Given the description of an element on the screen output the (x, y) to click on. 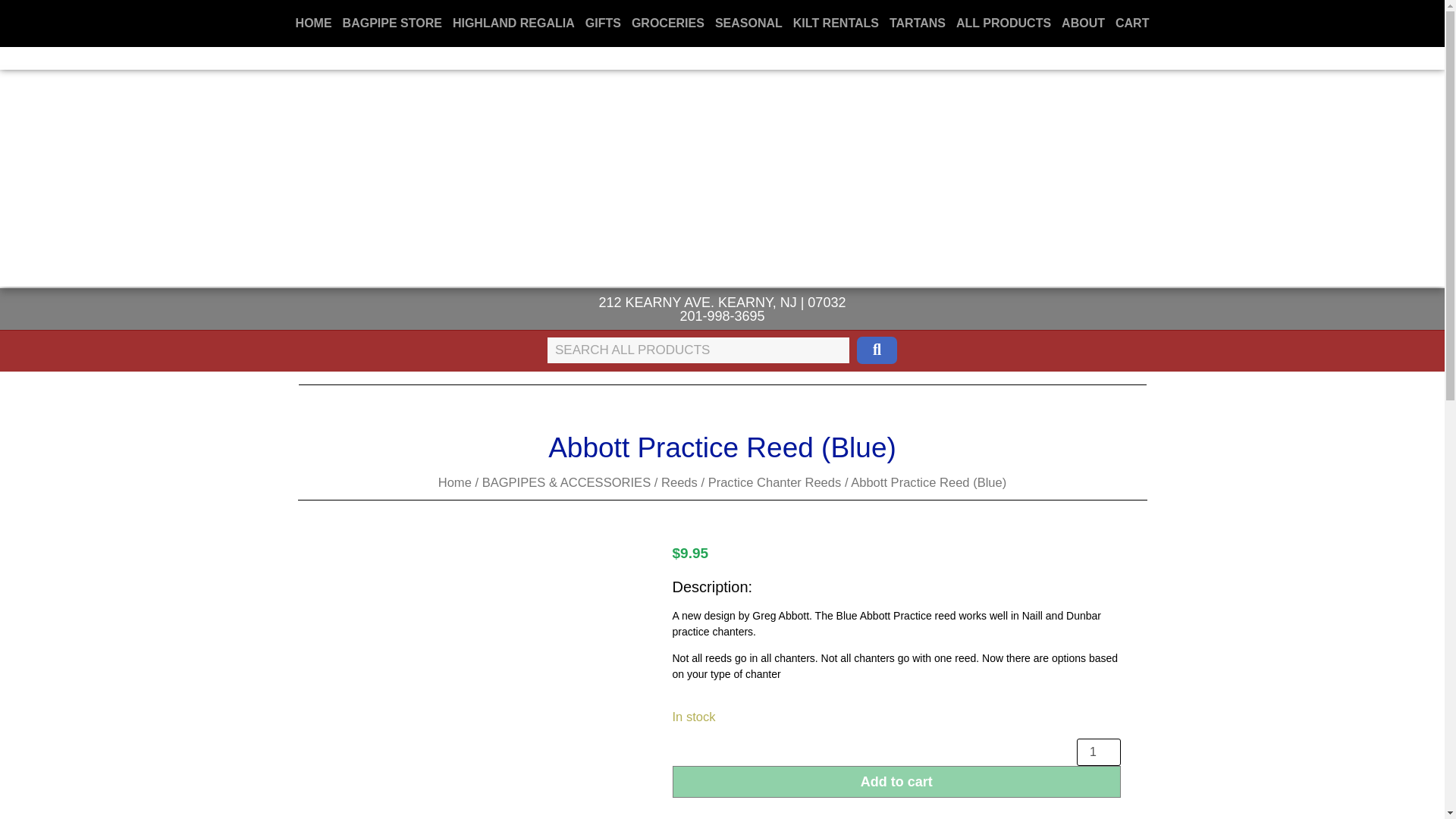
HOME (313, 23)
SEASONAL (748, 23)
HIGHLAND REGALIA (512, 23)
GIFTS (602, 23)
BAGPIPE STORE (391, 23)
GROCERIES (668, 23)
1 (1099, 751)
